Given the description of an element on the screen output the (x, y) to click on. 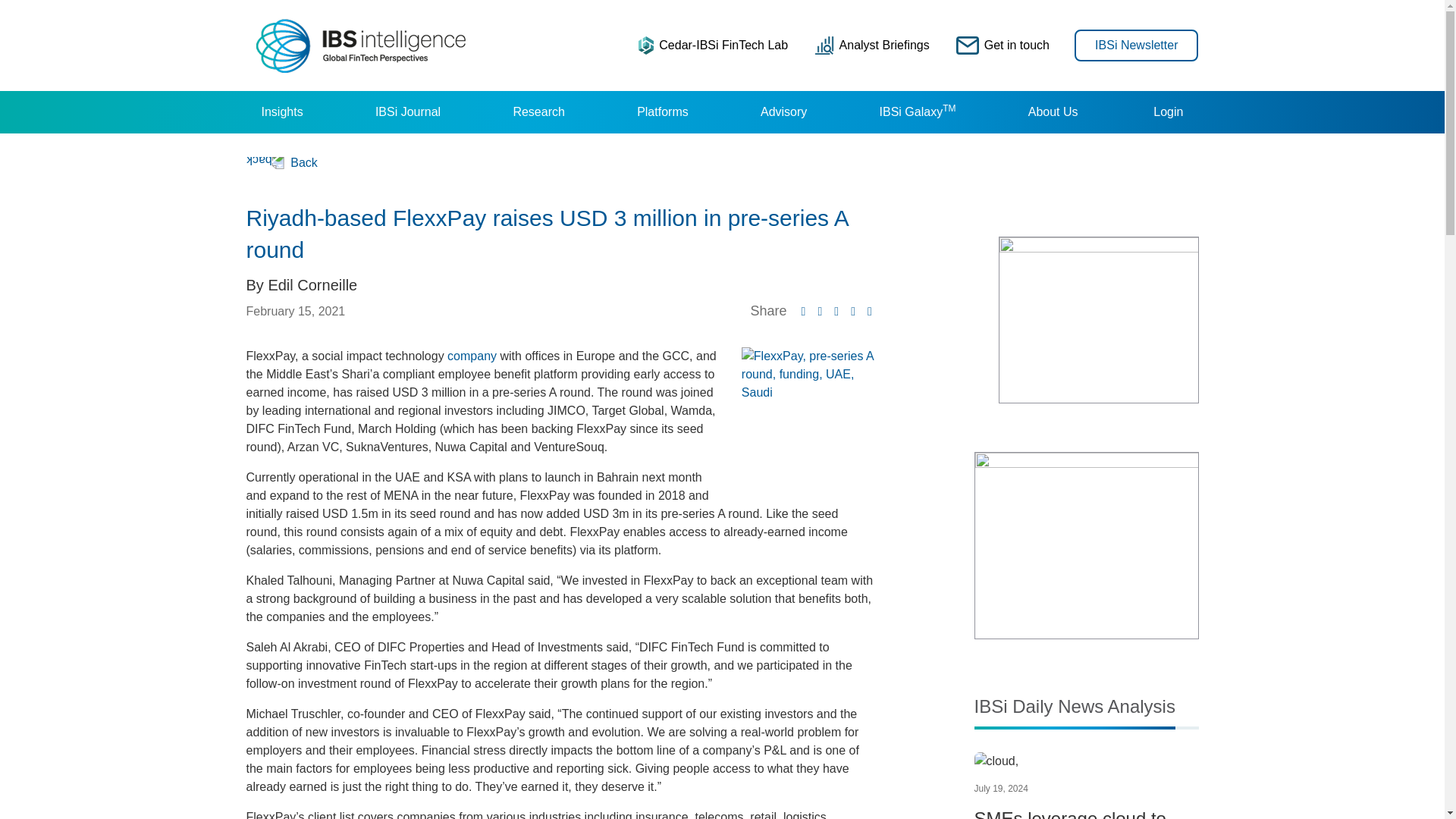
Research (538, 111)
IBSi Newsletter (1136, 44)
Get in touch (1002, 45)
Analyst Briefings (871, 45)
IBSi Journal (407, 111)
Cedar-IBSi FinTech Lab (712, 45)
Insights (281, 111)
